Given the description of an element on the screen output the (x, y) to click on. 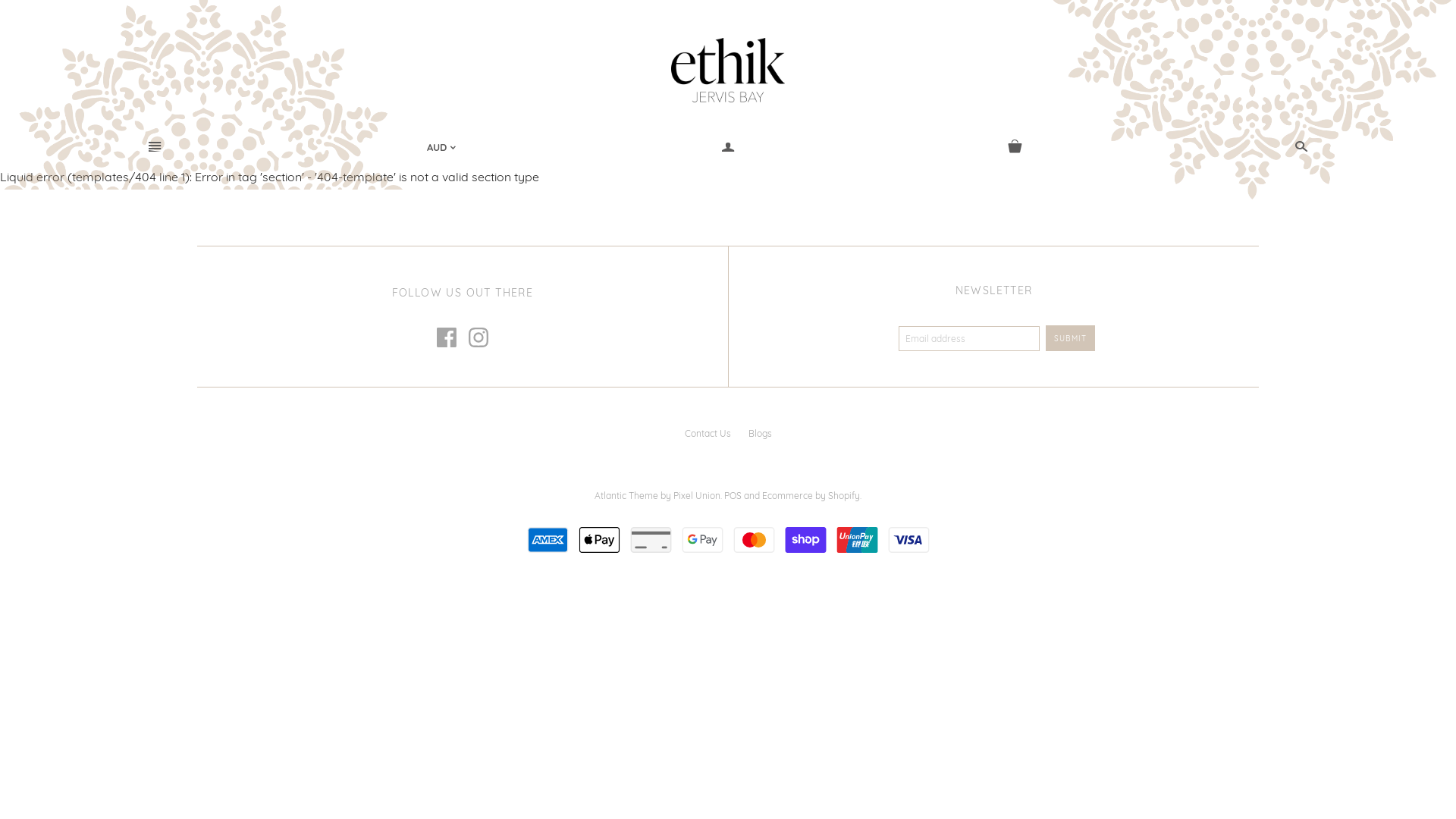
a Element type: text (727, 146)
Ecommerce by Shopify Element type: text (810, 495)
Contact Us Element type: text (707, 433)
Atlantic Theme Element type: text (626, 495)
Blogs Element type: text (759, 433)
Submit Element type: text (1070, 338)
Pixel Union Element type: text (696, 495)
POS Element type: text (732, 495)
Instagram Icon Element type: text (478, 337)
Bag Icon Element type: text (1014, 146)
Facebook Icon Element type: text (446, 337)
